Given the description of an element on the screen output the (x, y) to click on. 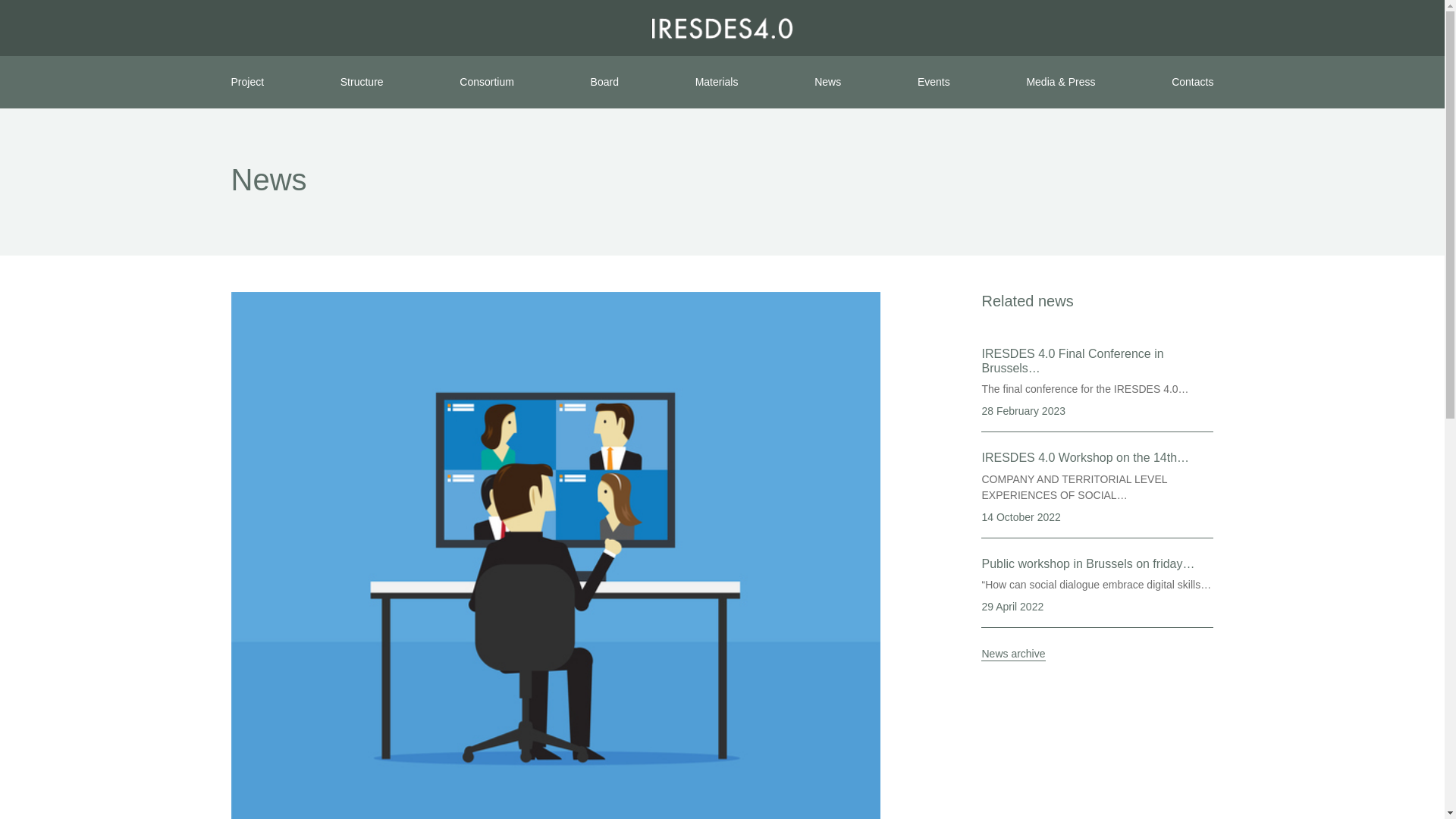
IRESDES 4.0 Final Conference in Brussels on February 28th (1096, 389)
Board (604, 82)
IREDES 4.0 (721, 26)
News (827, 82)
Consortium (486, 82)
Structure (362, 82)
Project (246, 82)
Public workshop in Brussels on friday april 29th, 2022 (1096, 592)
Events (933, 82)
Contacts (1192, 82)
News archive (1013, 653)
Materials (716, 82)
